Given the description of an element on the screen output the (x, y) to click on. 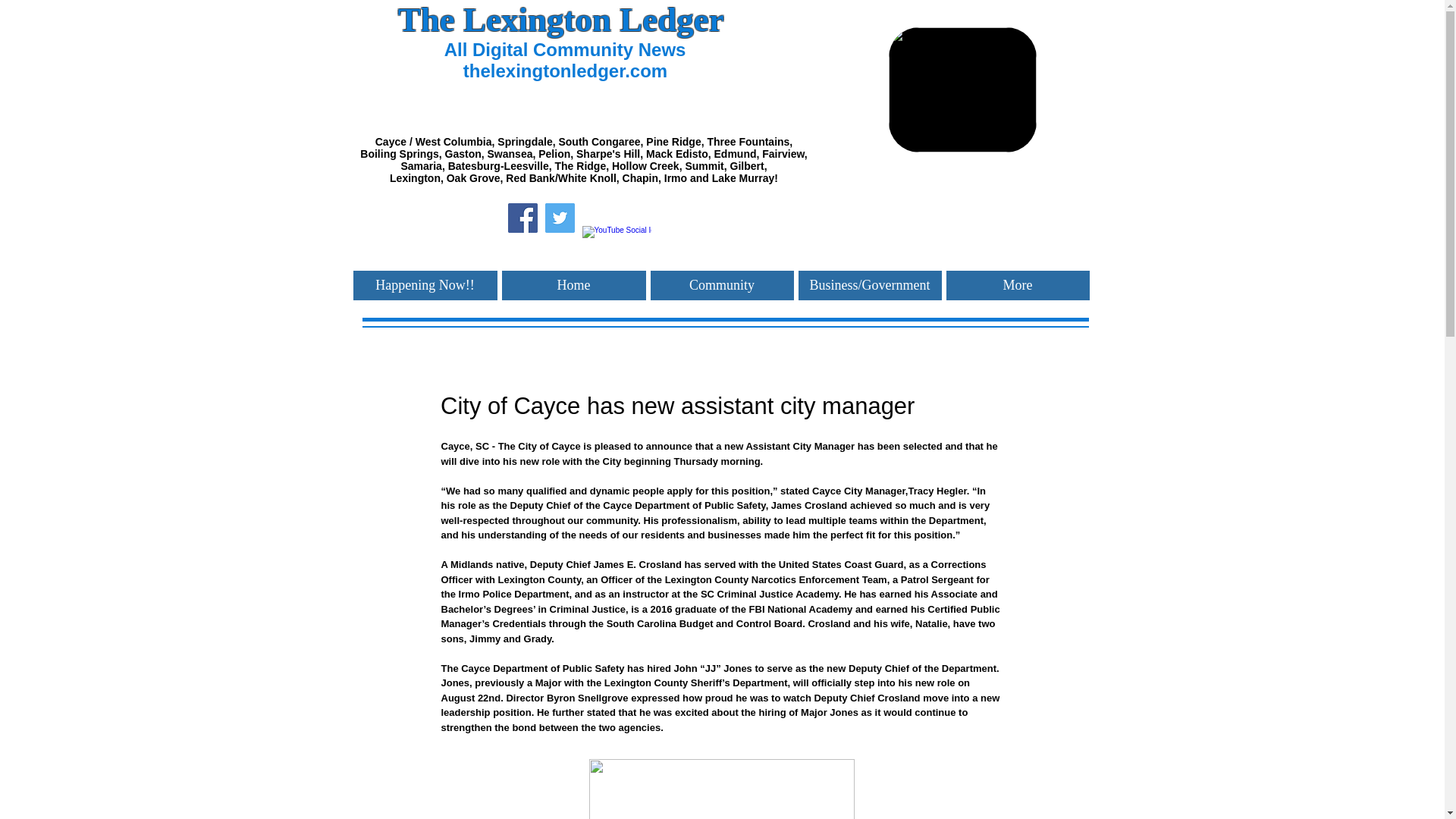
Happening Now!! (425, 285)
Community (721, 285)
Home (574, 285)
